Given the description of an element on the screen output the (x, y) to click on. 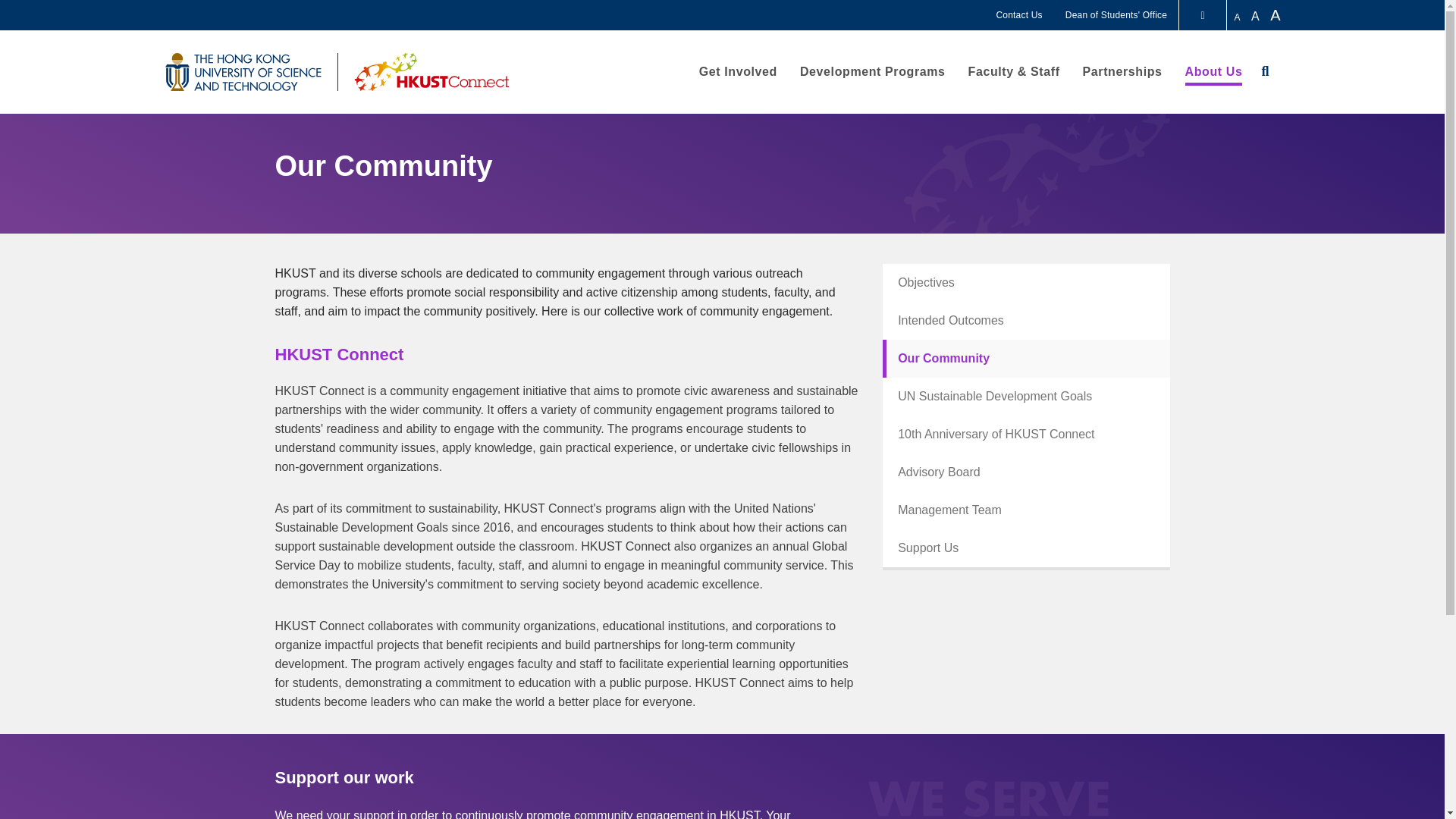
Get Involved (738, 71)
A (1255, 15)
Development Programs (872, 71)
A (1237, 17)
Partnerships (1122, 71)
A (1278, 14)
Contact Us (1018, 15)
Dean of Students' Office (1116, 15)
